Given the description of an element on the screen output the (x, y) to click on. 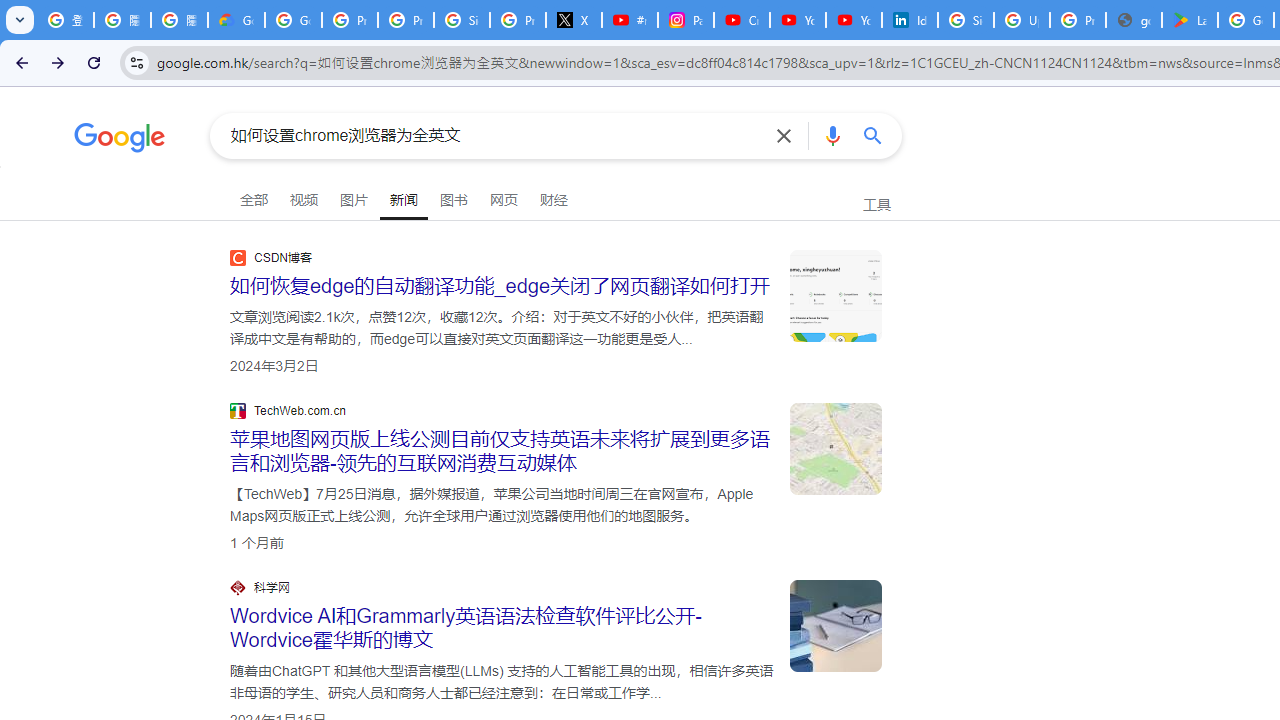
X (573, 20)
Sign in - Google Accounts (966, 20)
